Given the description of an element on the screen output the (x, y) to click on. 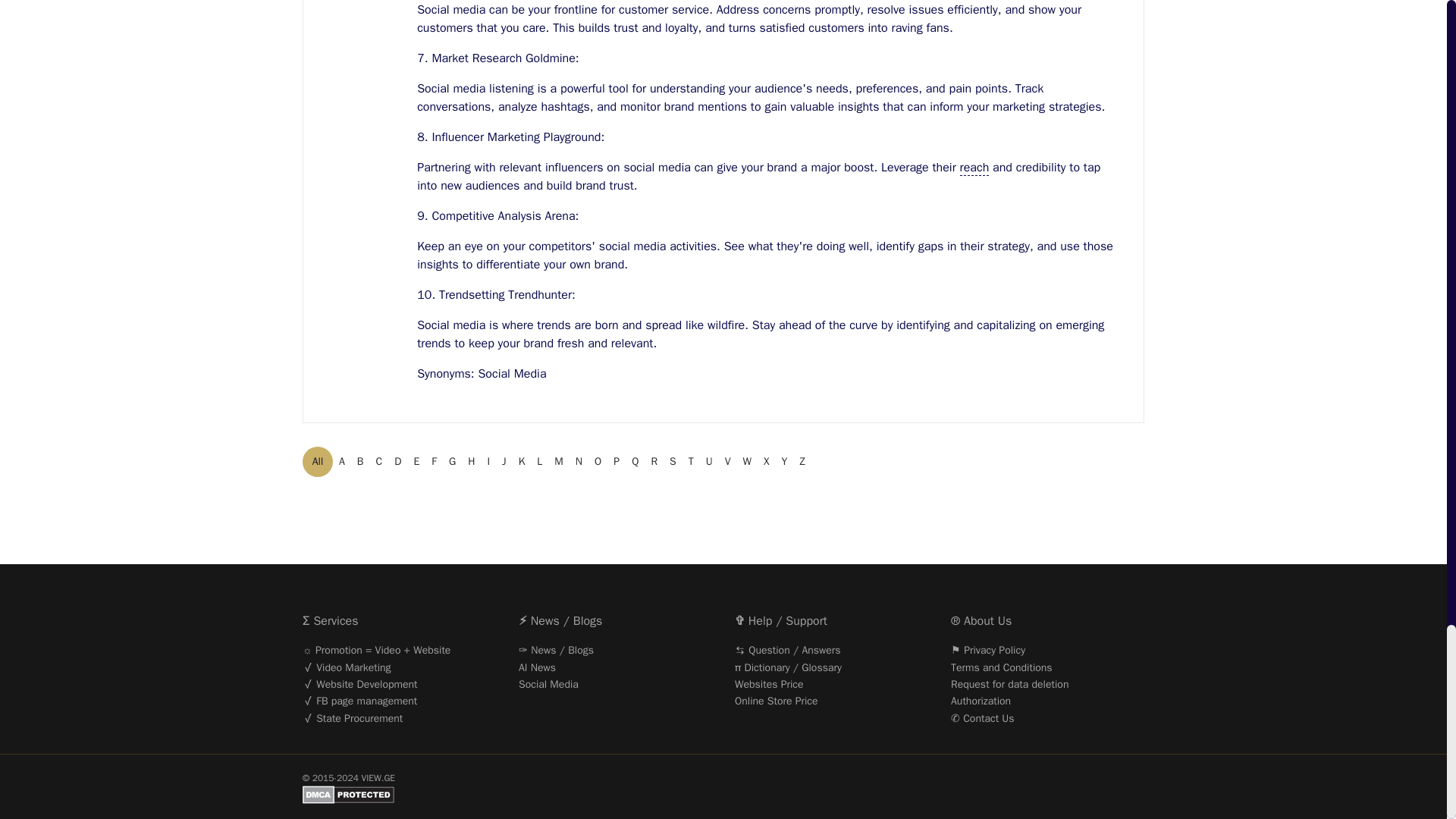
DMCA.com Protection Status (723, 801)
